Given the description of an element on the screen output the (x, y) to click on. 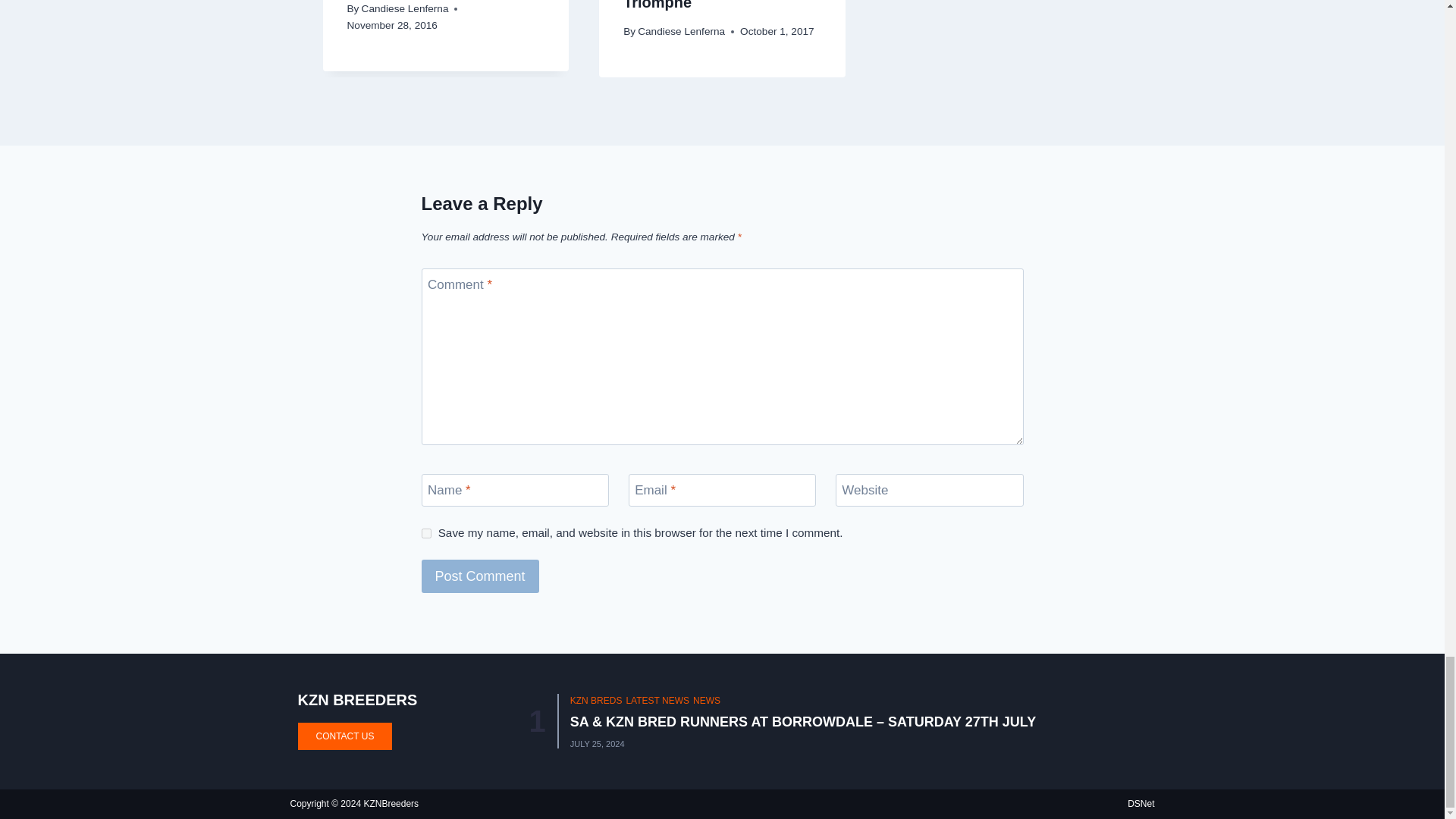
Post Comment (480, 575)
yes (426, 533)
